Given the description of an element on the screen output the (x, y) to click on. 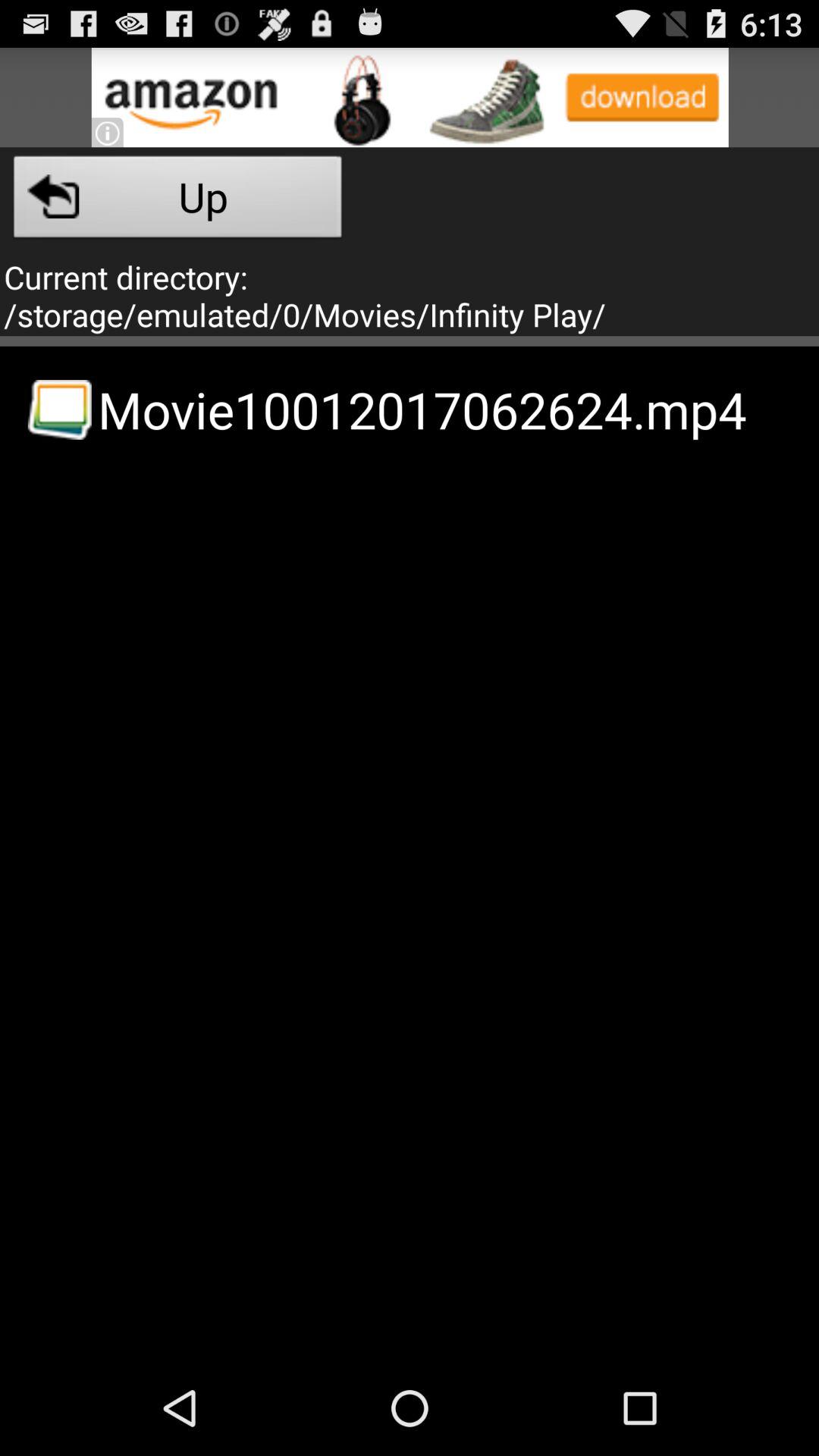
advertisement (409, 97)
